Given the description of an element on the screen output the (x, y) to click on. 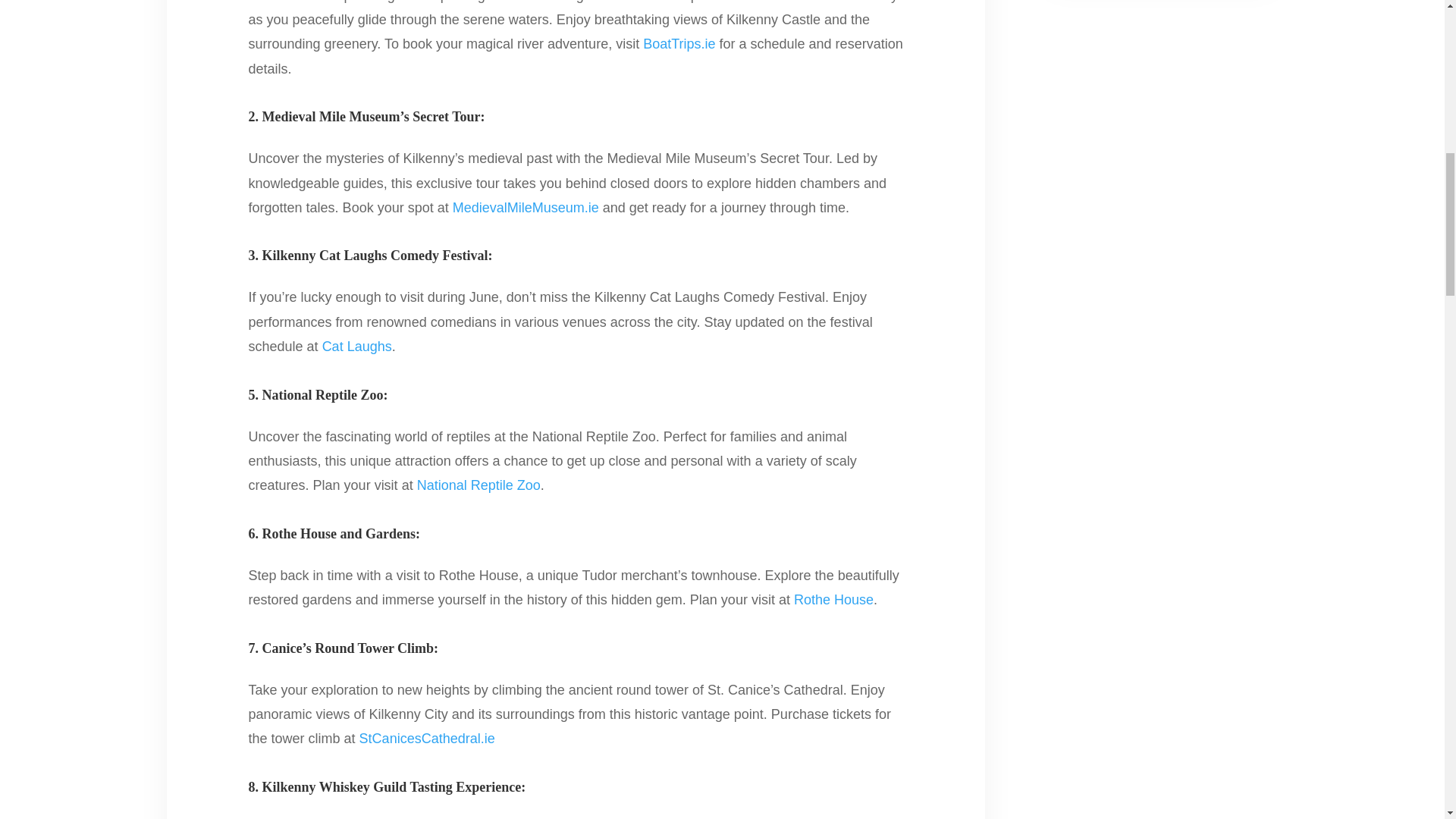
MedievalMileMuseum.ie (525, 207)
BoatTrips.ie (678, 43)
FareHarbor (1342, 64)
Rothe House (833, 599)
National Reptile Zoo (478, 485)
Cat Laughs (356, 346)
StCanicesCathedral.ie (427, 738)
